Given the description of an element on the screen output the (x, y) to click on. 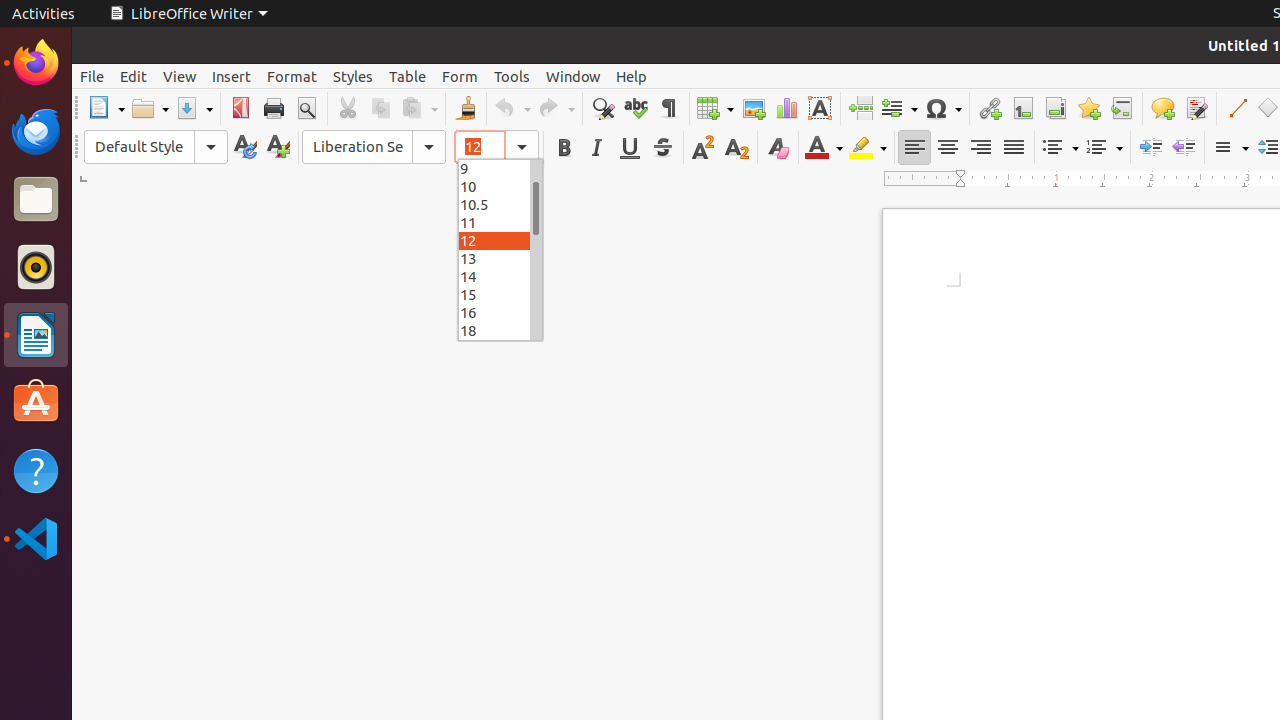
Text Box Element type: push-button (819, 108)
Numbering Element type: push-button (1104, 147)
Cross-reference Element type: push-button (1121, 108)
Open Element type: push-button (150, 108)
Subscript Element type: toggle-button (736, 147)
